Given the description of an element on the screen output the (x, y) to click on. 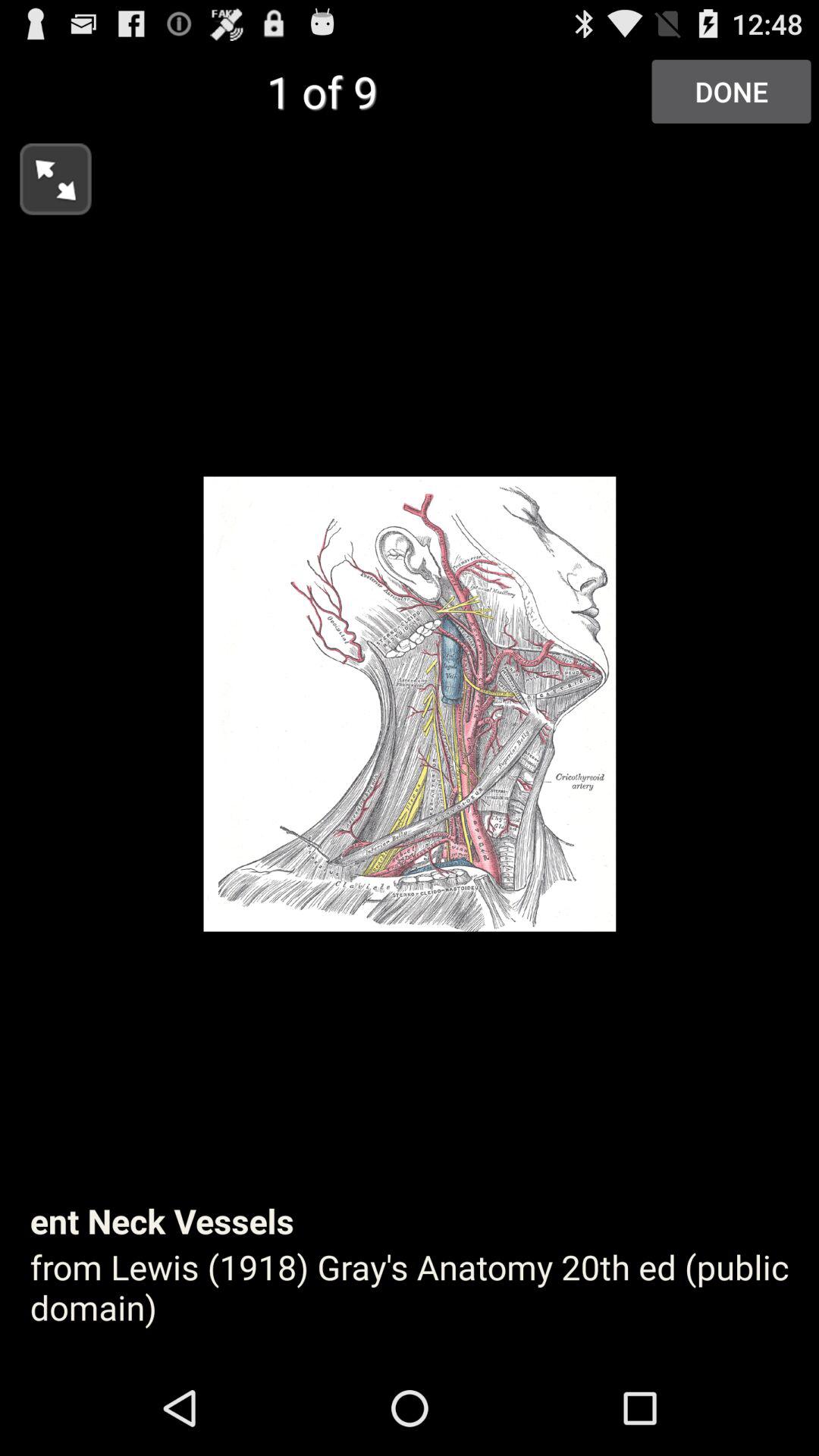
choose item next to the done icon (45, 174)
